Given the description of an element on the screen output the (x, y) to click on. 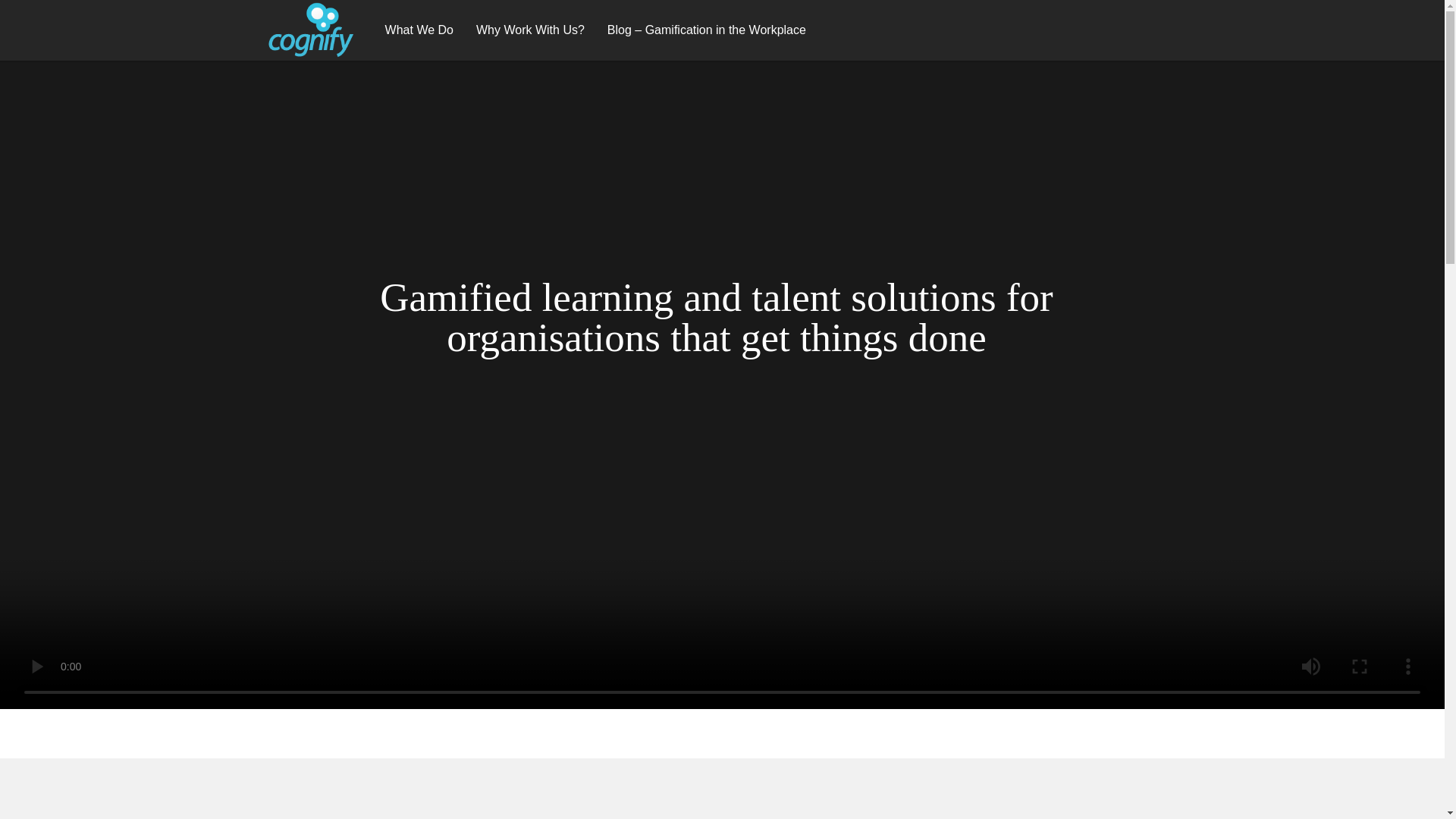
What We Do (419, 30)
Why Work With Us? (529, 30)
